Given the description of an element on the screen output the (x, y) to click on. 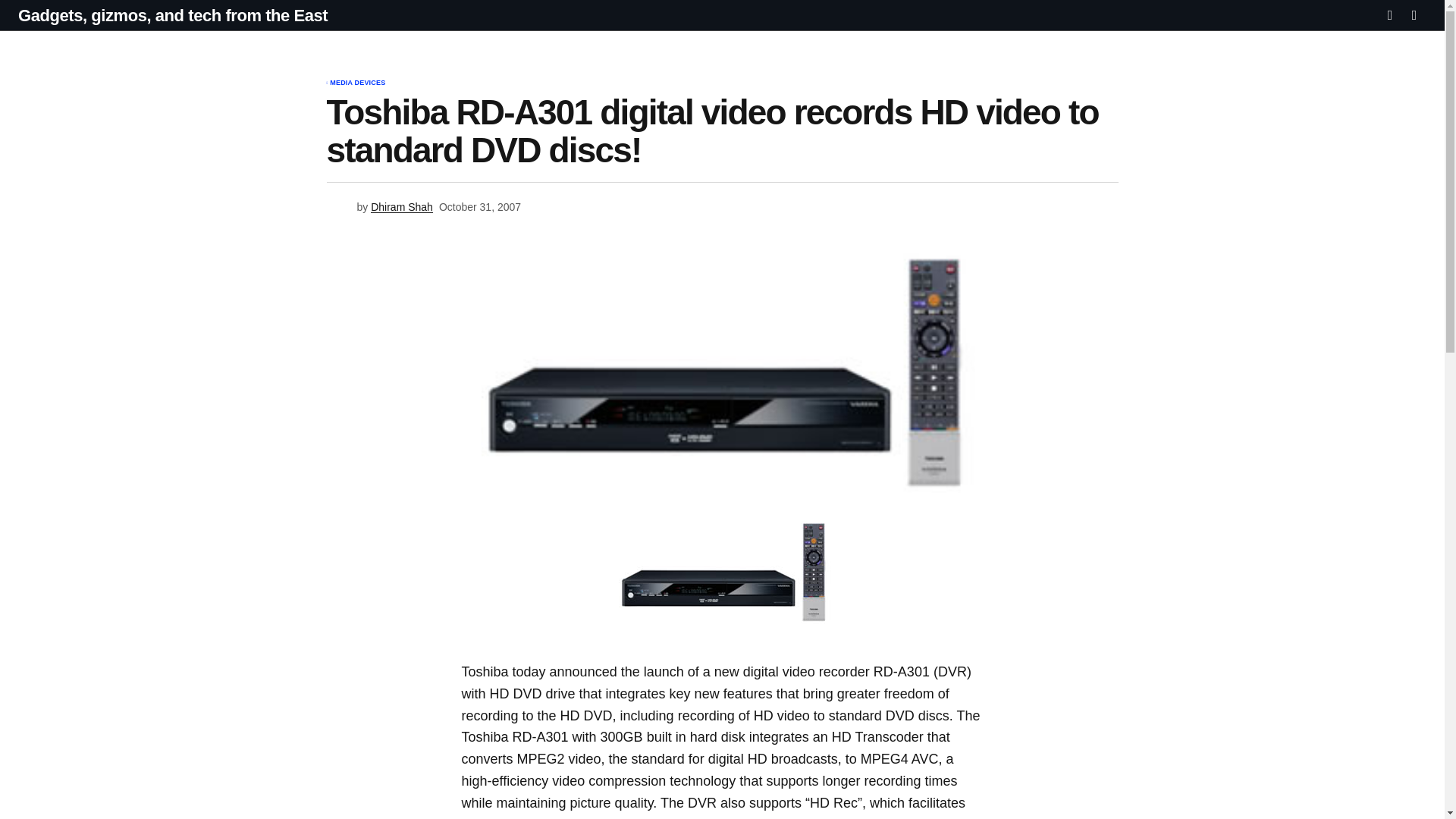
Gadgets, gizmos, and tech from the East (172, 15)
MEDIA DEVICES (357, 82)
Dhiram Shah (401, 207)
